Given the description of an element on the screen output the (x, y) to click on. 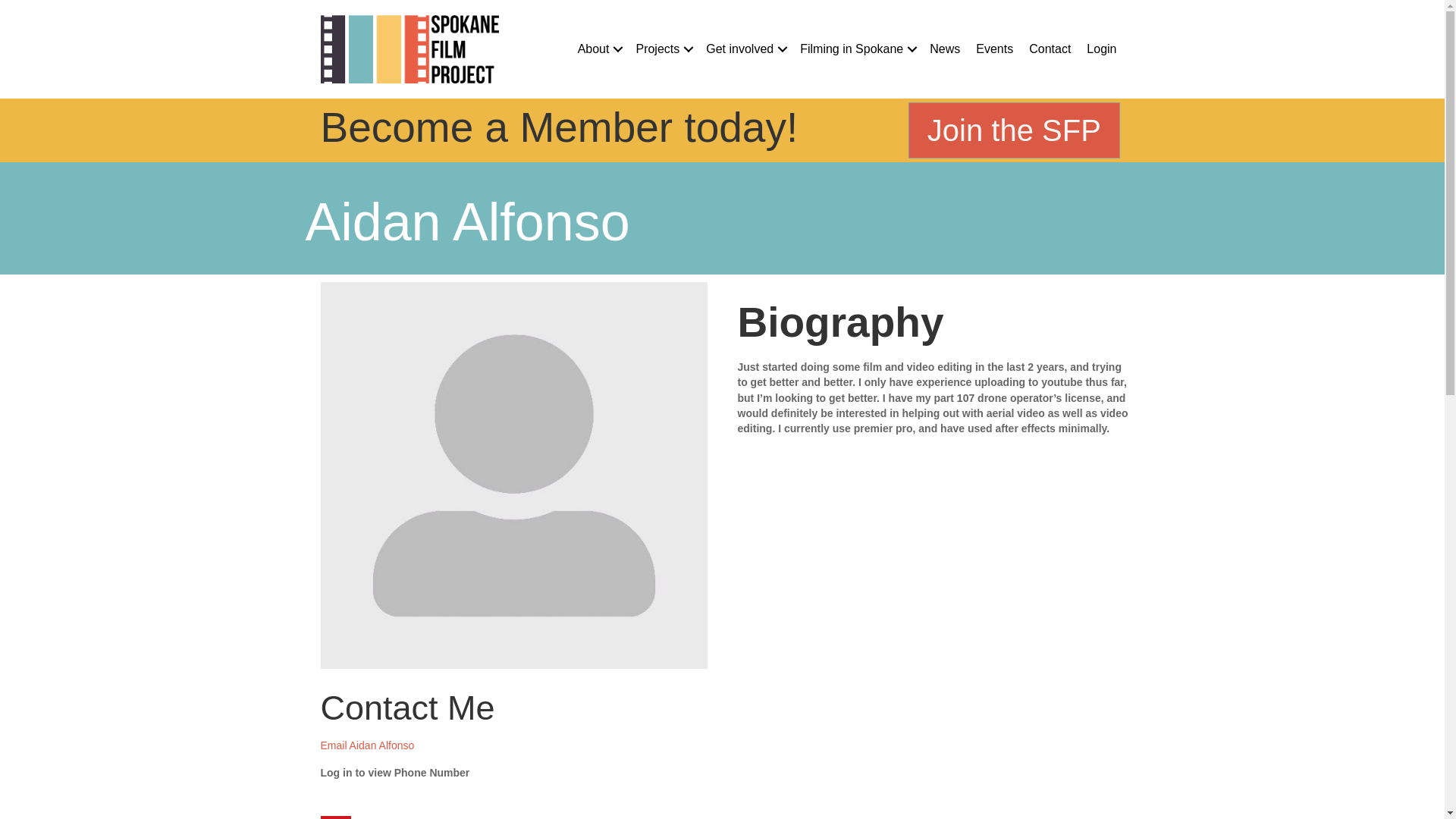
Join the SFP (1013, 130)
Events (994, 49)
About (598, 49)
Email Aidan Alfonso (366, 745)
Projects (662, 49)
Filming in Spokane (856, 49)
Contact (1050, 49)
Login (1101, 49)
News (944, 49)
Spokane Film Project (408, 49)
Get involved (745, 49)
